Given the description of an element on the screen output the (x, y) to click on. 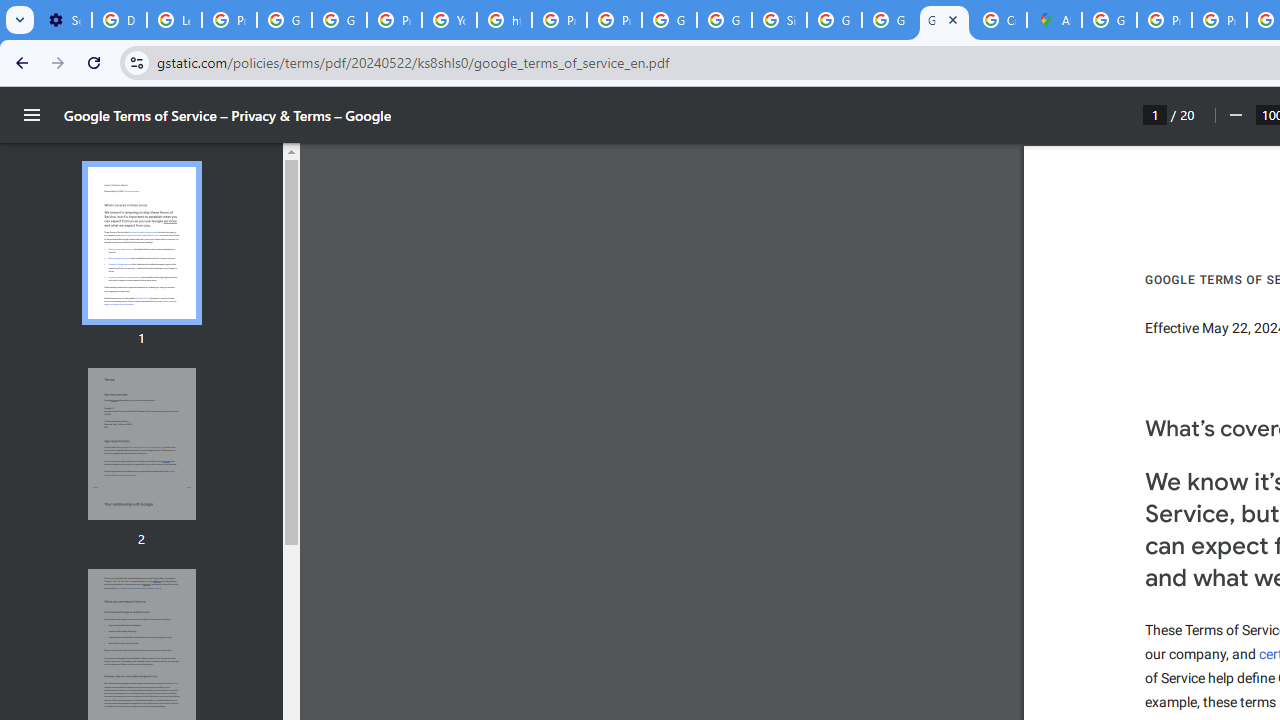
Google Account Help (284, 20)
Thumbnail for page 2 (141, 444)
YouTube (449, 20)
Thumbnail for page 1 (141, 243)
Page number (1155, 114)
Zoom out (1234, 115)
